Given the description of an element on the screen output the (x, y) to click on. 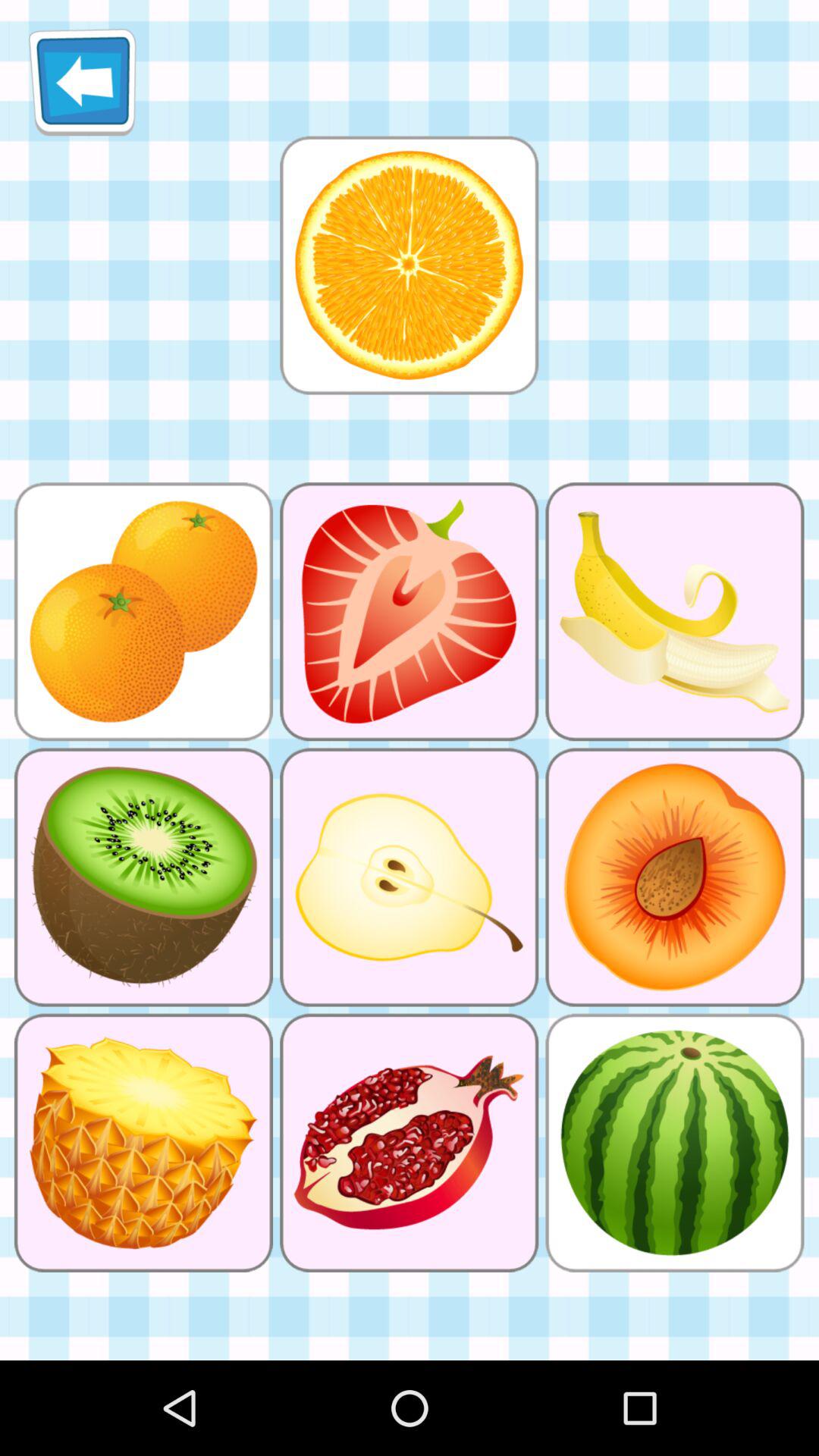
go back (82, 82)
